Given the description of an element on the screen output the (x, y) to click on. 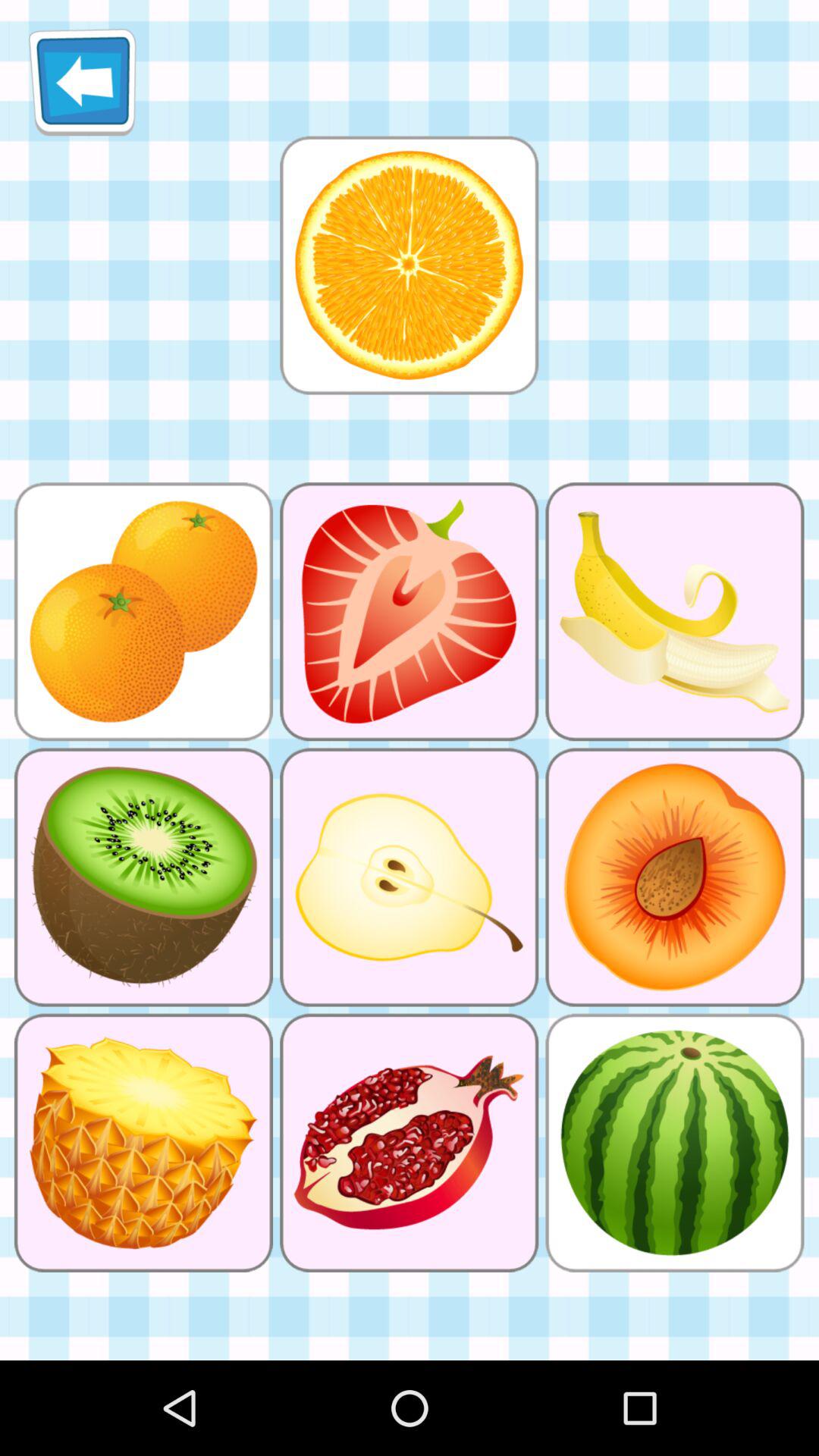
go back (82, 82)
